Given the description of an element on the screen output the (x, y) to click on. 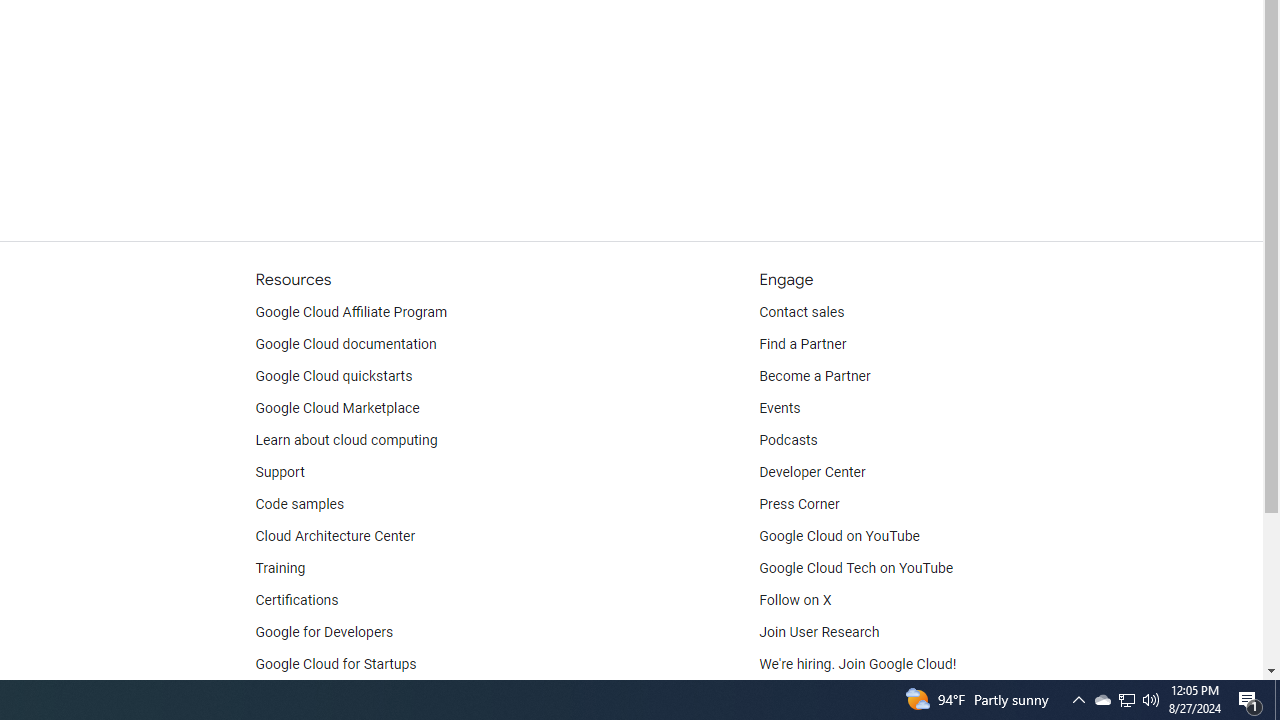
Code samples (299, 504)
Google Cloud quickstarts (333, 376)
Learn about cloud computing (345, 440)
Join User Research (819, 632)
Developer Center (812, 472)
Press Corner (799, 504)
Google Cloud documentation (345, 344)
Cloud Architecture Center (335, 536)
Become a Partner (814, 376)
